Given the description of an element on the screen output the (x, y) to click on. 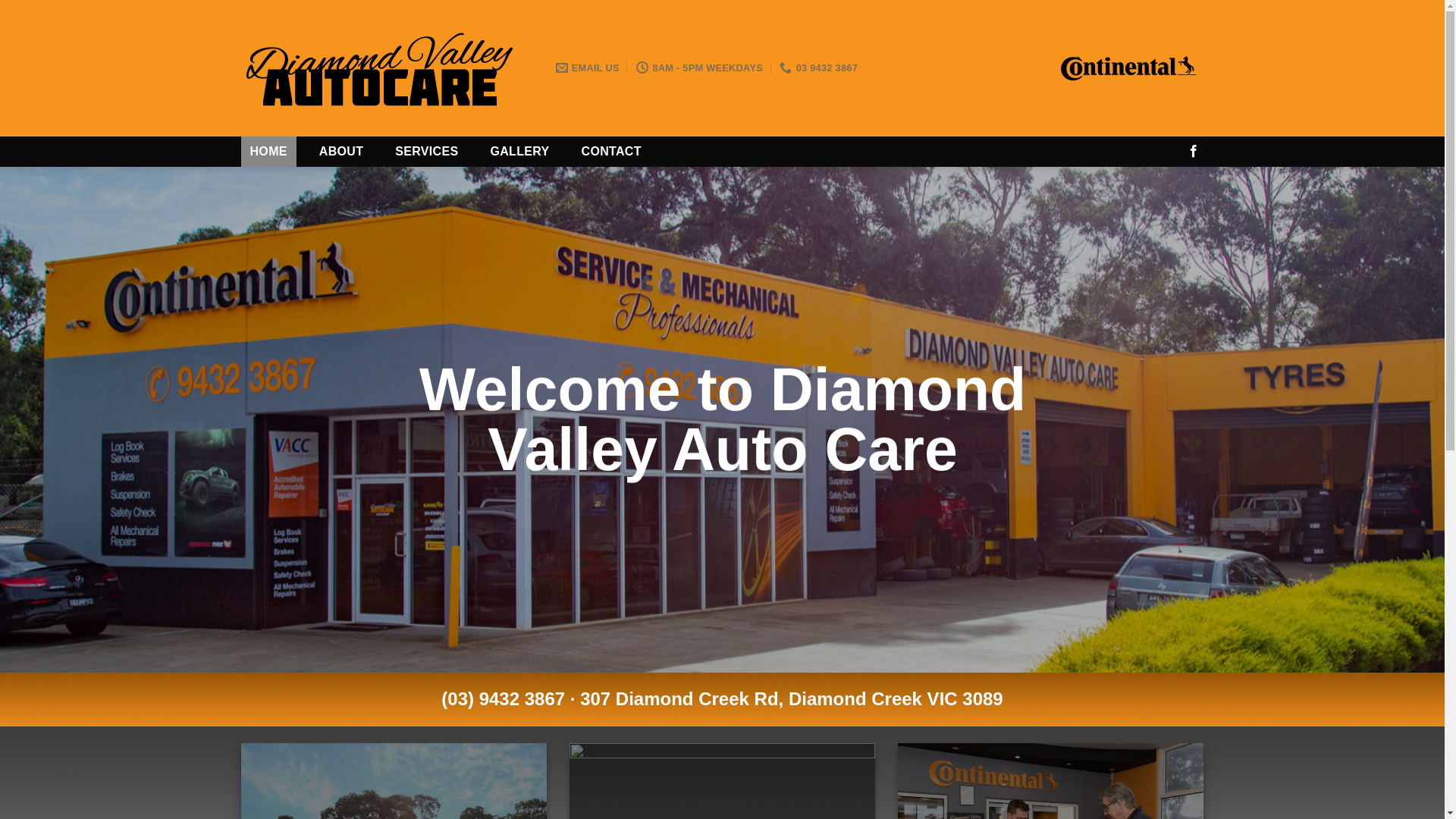
GALLERY Element type: text (519, 151)
8AM - 5PM WEEKDAYS Element type: text (699, 67)
CONTACT Element type: text (611, 151)
EMAIL US Element type: text (586, 67)
03 9432 3867 Element type: text (818, 67)
HOME Element type: text (268, 151)
ABOUT Element type: text (341, 151)
03) 9432 3867 Element type: text (505, 698)
SERVICES Element type: text (426, 151)
Diamond Valley Auto Care Element type: hover (387, 68)
307 Diamond Creek Rd, Diamond Creek VIC 3089 Element type: text (791, 698)
